Given the description of an element on the screen output the (x, y) to click on. 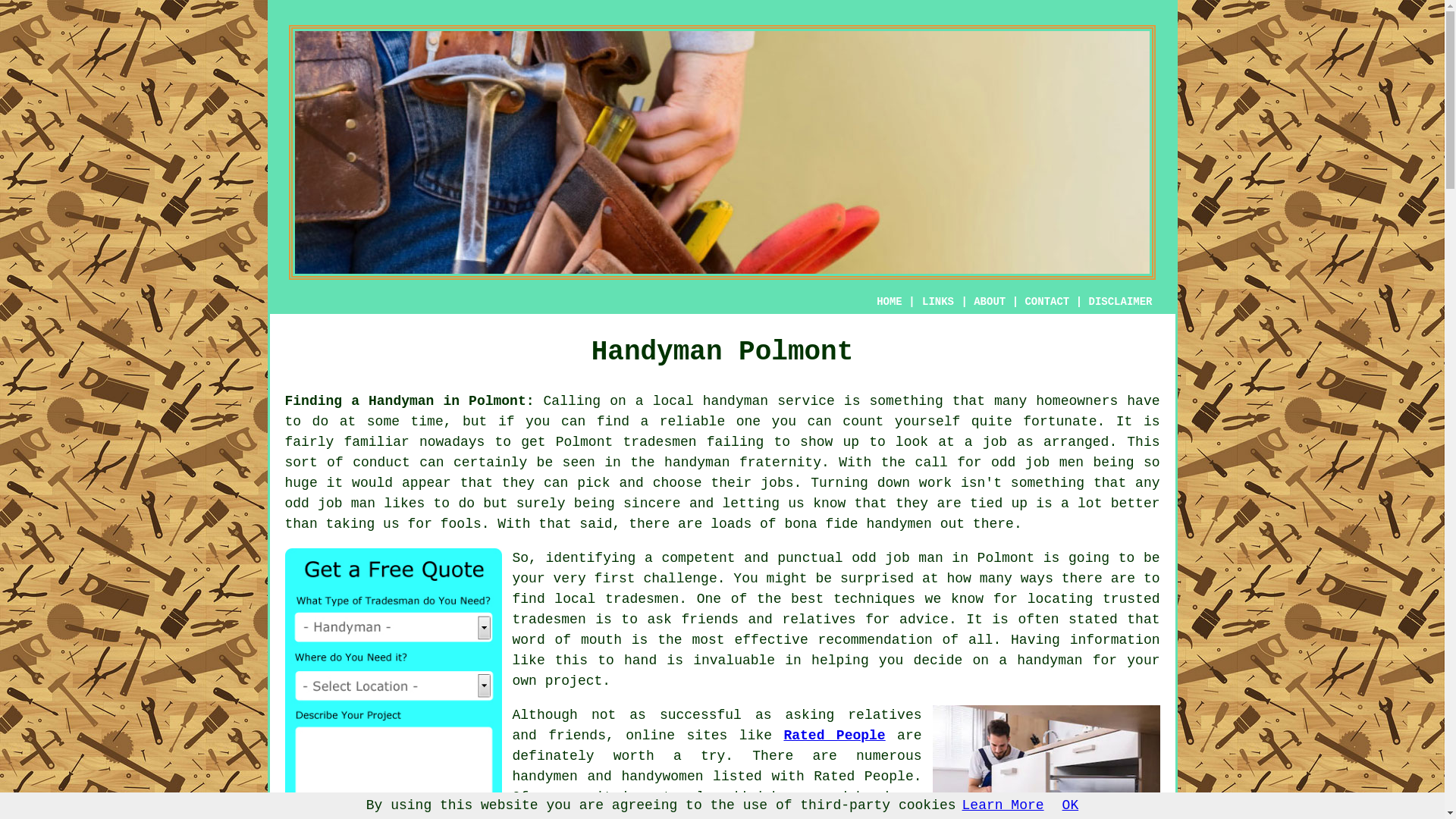
LINKS (938, 301)
HOME (889, 301)
Handyman Polmont Falkirk (1046, 762)
